Given the description of an element on the screen output the (x, y) to click on. 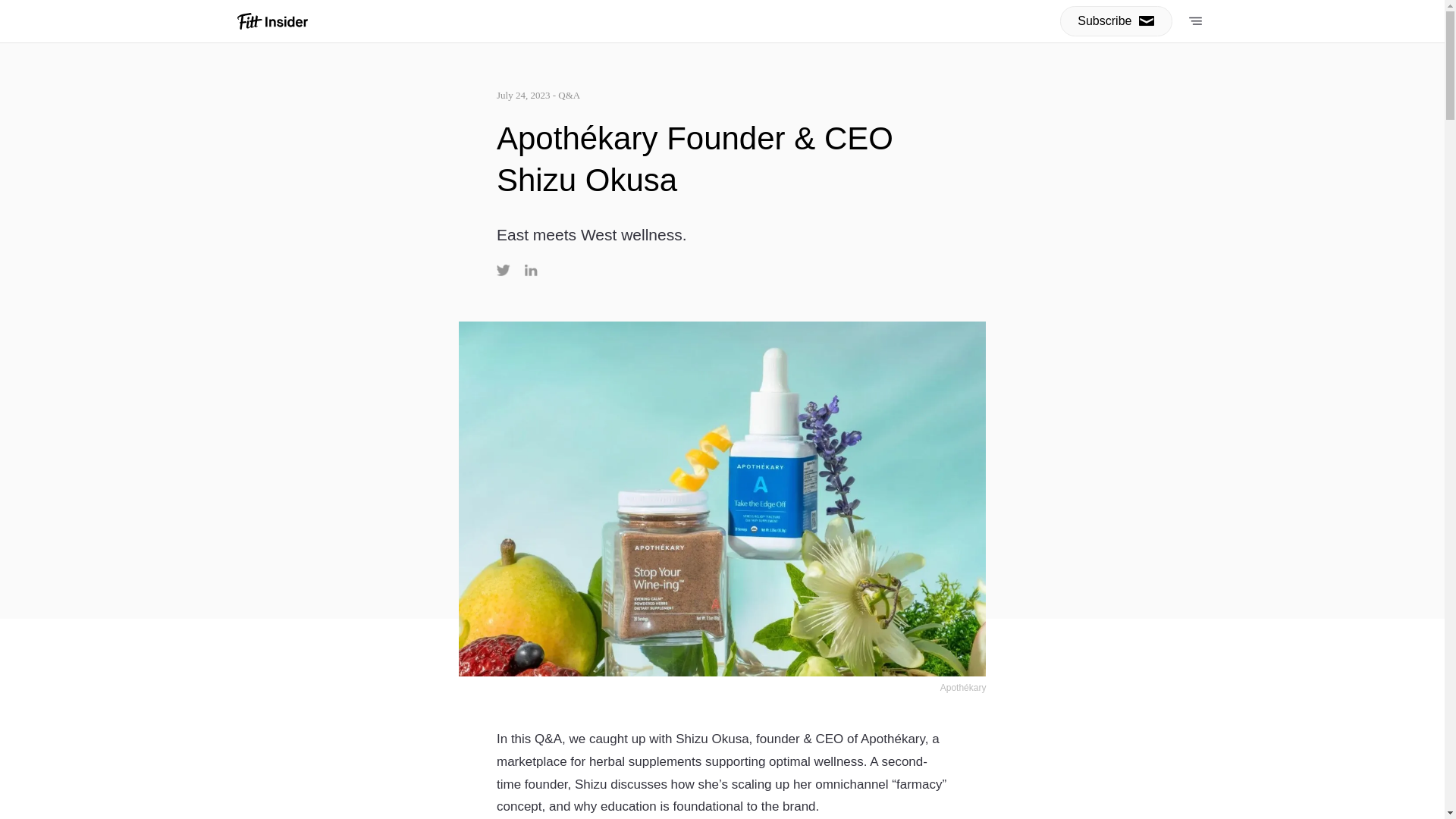
Subscribe (839, 132)
Subscribe (1115, 20)
